Given the description of an element on the screen output the (x, y) to click on. 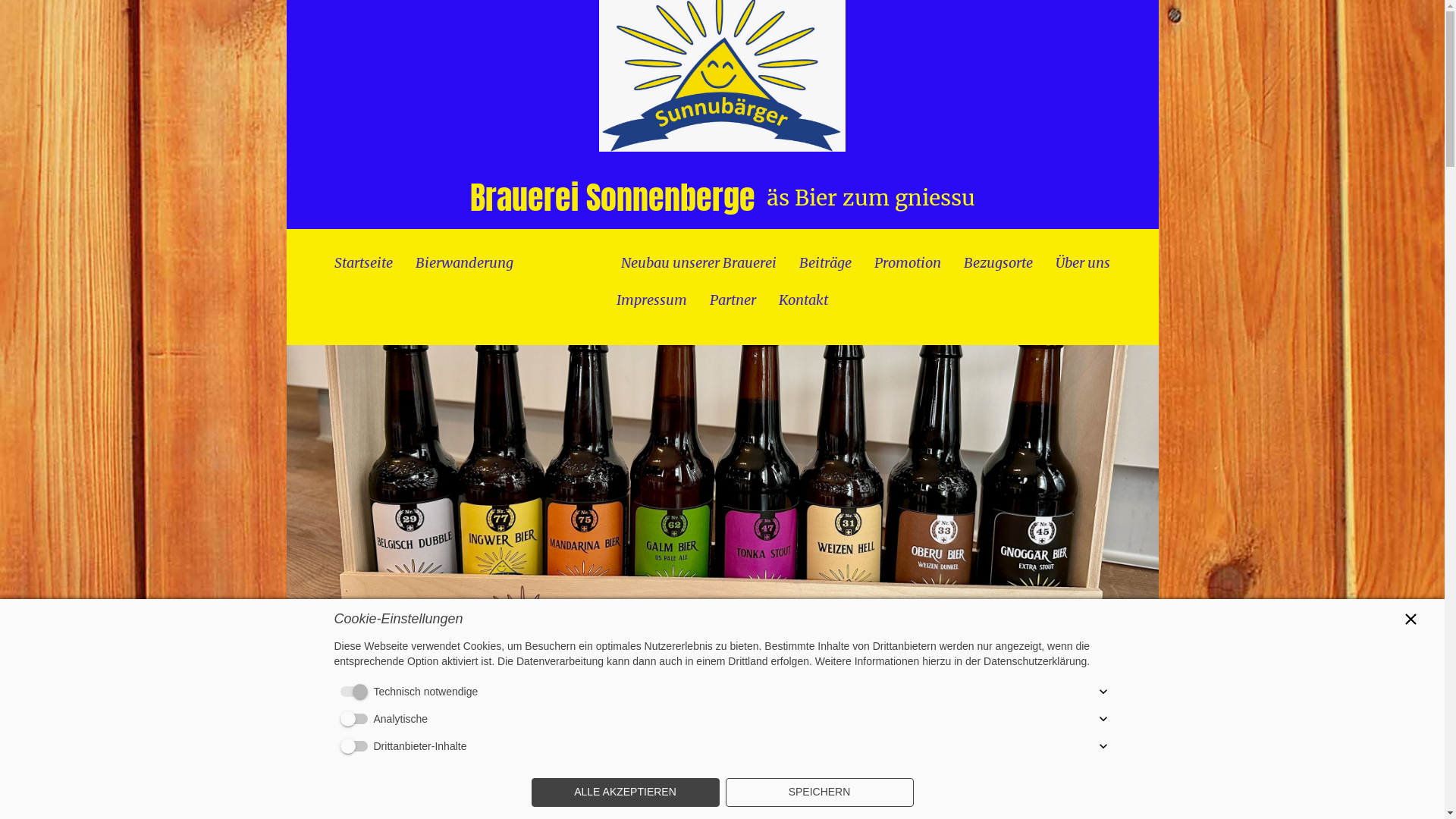
SPEICHERN Element type: text (818, 792)
Partner Element type: text (732, 299)
Startseite Element type: text (363, 262)
Neubau unserer Brauerei Element type: text (698, 262)
ALLE AKZEPTIEREN Element type: text (624, 792)
Promotion Element type: text (907, 262)
Bierwanderung Element type: text (464, 262)
Sortiment Element type: text (566, 262)
Impressum Element type: text (651, 299)
Bezugsorte Element type: text (998, 262)
Kontakt Element type: text (803, 299)
